Given the description of an element on the screen output the (x, y) to click on. 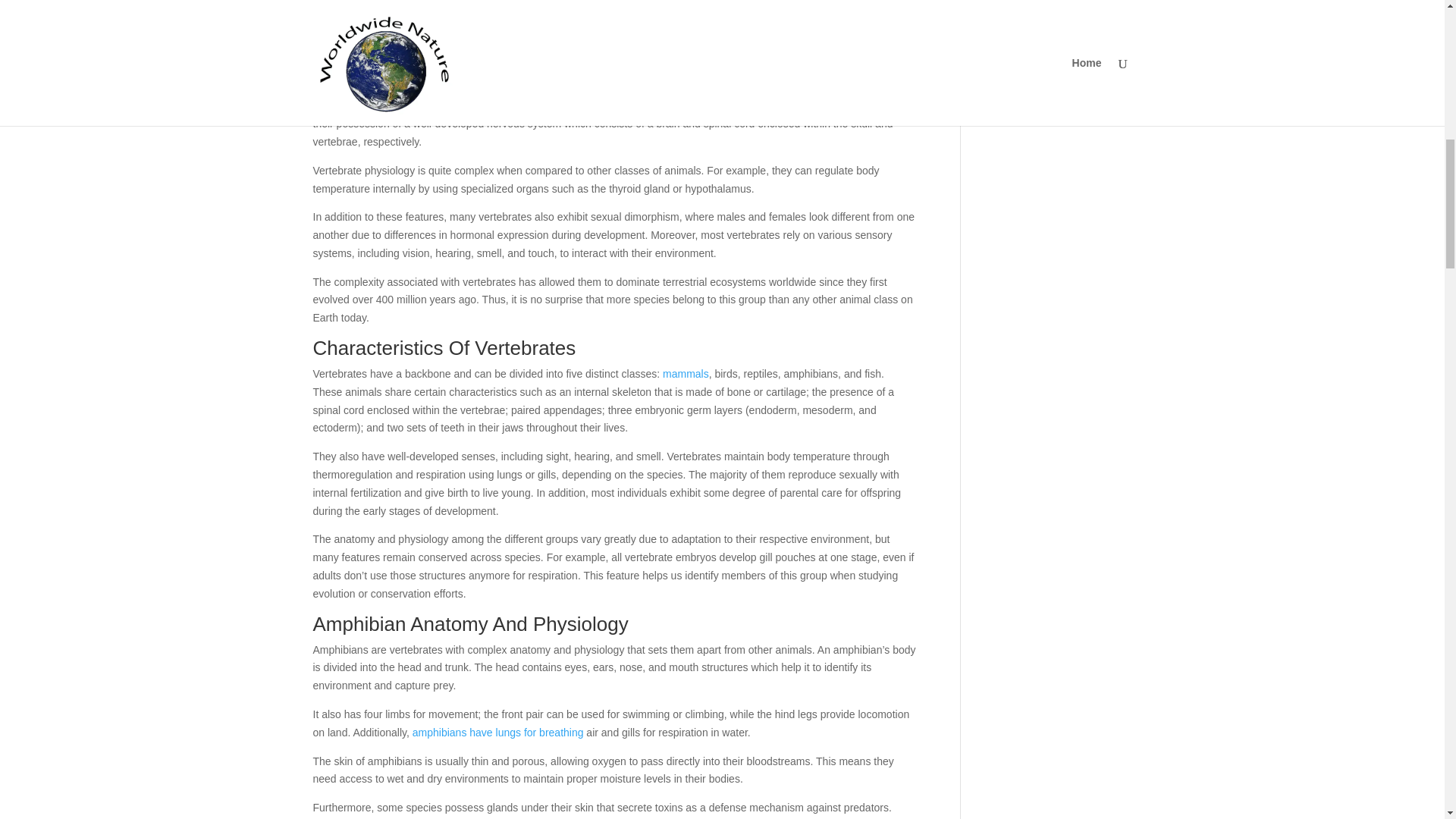
mammals (592, 105)
reptiles (506, 77)
mammals (685, 373)
amphibians have lungs for breathing (497, 732)
reptiles (506, 77)
mammals (592, 105)
mammals (685, 373)
